Given the description of an element on the screen output the (x, y) to click on. 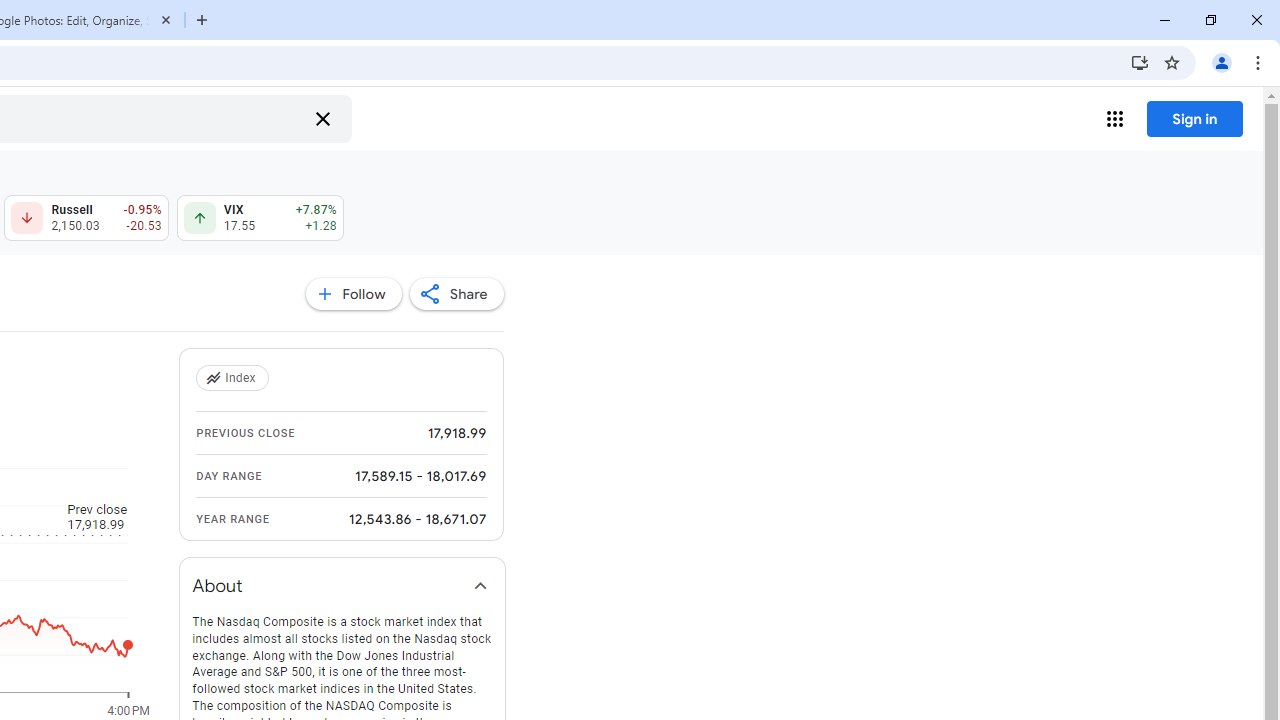
Install Google Finance (1139, 62)
